Given the description of an element on the screen output the (x, y) to click on. 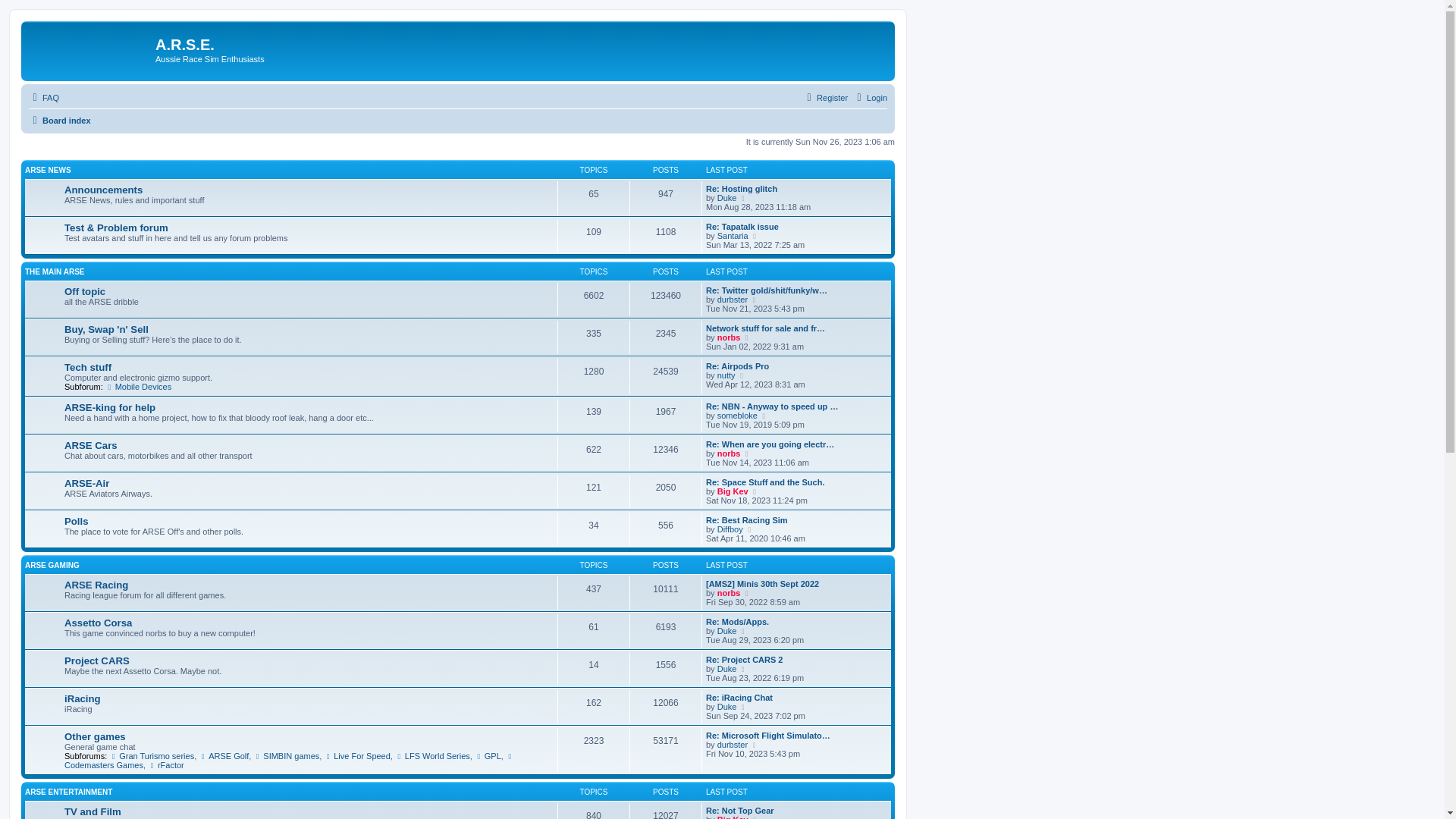
Skip to content Element type: text (42, 92)
Re: Hosting glitch Element type: text (157, 371)
Register Element type: text (56, 172)
durbster Element type: text (101, 667)
norbs Element type: text (95, 774)
Santaria Element type: text (101, 492)
View the latest post Element type: text (171, 492)
FAQ Element type: text (47, 145)
Login Element type: text (50, 159)
Buy, Swap 'n' Sell Element type: text (80, 706)
View the latest post Element type: text (159, 774)
Announcements Element type: text (75, 316)
Test & Problem forum Element type: text (90, 424)
Quick links Element type: text (64, 118)
Off topic Element type: text (58, 599)
ARSE News Element type: text (66, 250)
The Main ARSE Element type: text (76, 532)
View the latest post Element type: text (158, 385)
View the latest post Element type: text (171, 667)
Duke Element type: text (94, 385)
Re: Tapatalk issue Element type: text (157, 479)
Board index Element type: text (66, 198)
